Given the description of an element on the screen output the (x, y) to click on. 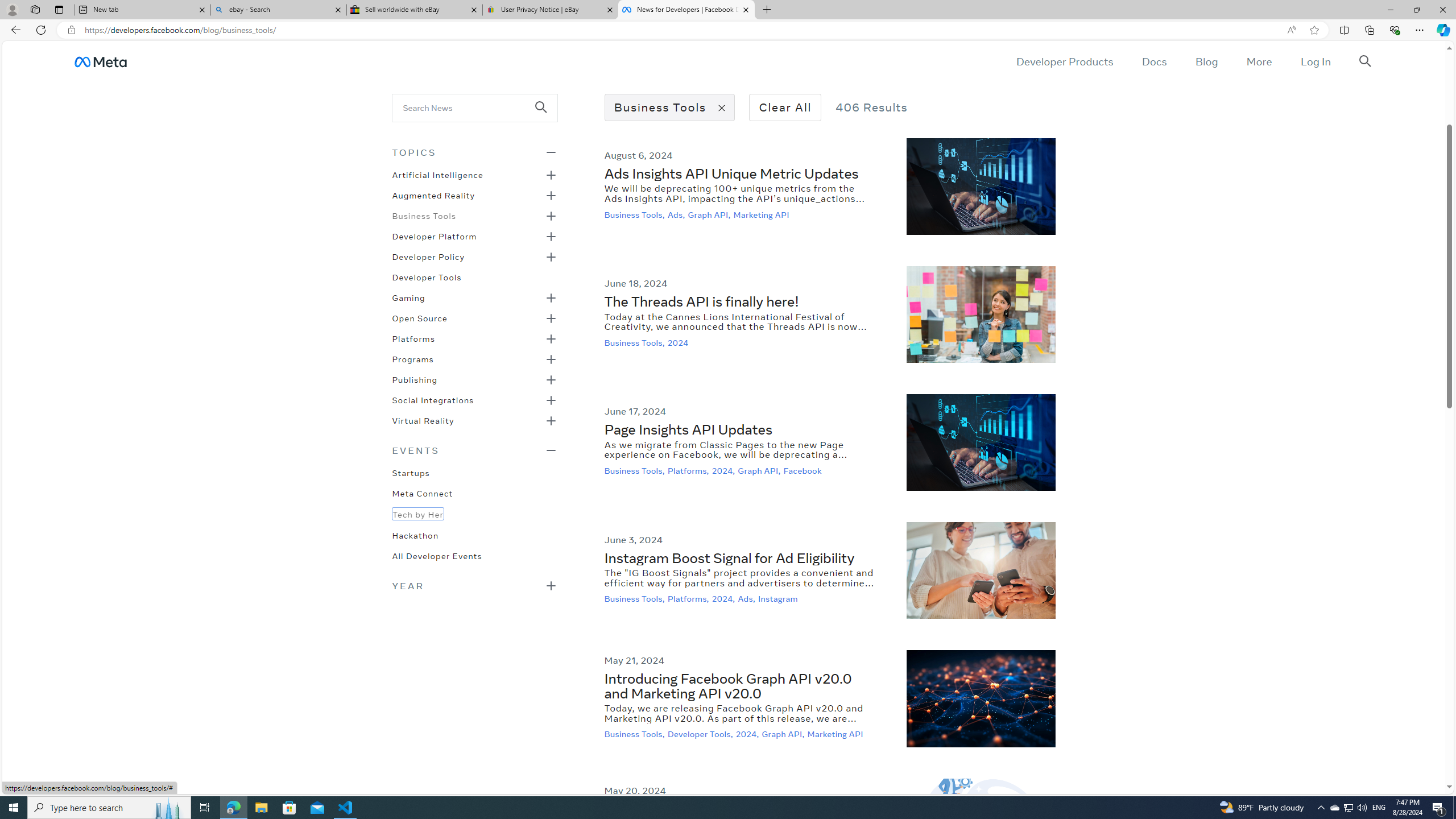
2024 (678, 342)
More (1259, 61)
Startups (410, 472)
Marketing API (836, 733)
All Developer Events (436, 554)
Class: _9890 _98ey (474, 450)
Publishing (414, 378)
Class: _98ex _98ez (474, 423)
Ads, (748, 598)
